Given the description of an element on the screen output the (x, y) to click on. 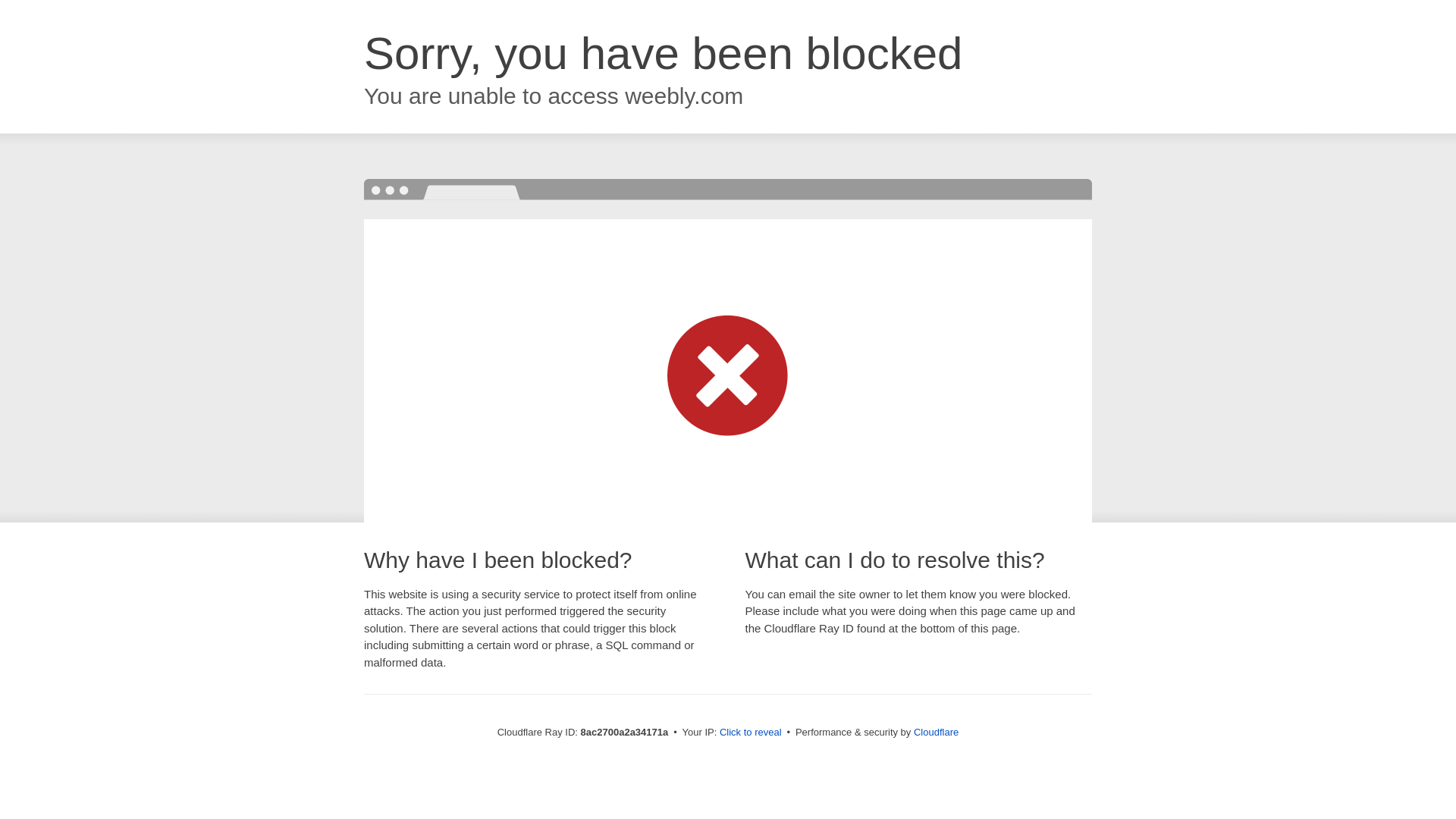
Cloudflare (936, 731)
Click to reveal (750, 732)
